Given the description of an element on the screen output the (x, y) to click on. 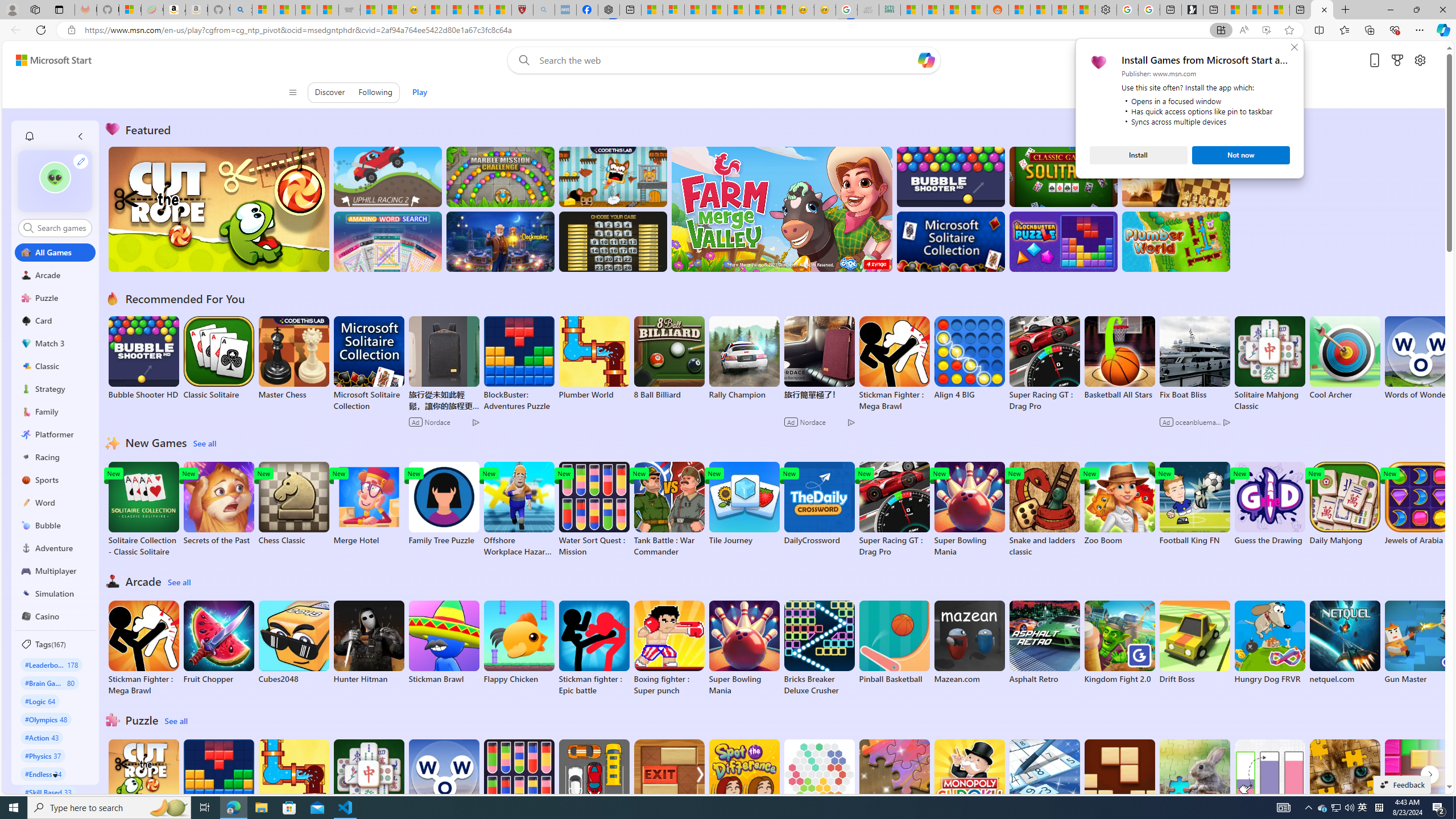
Tank Battle : War Commander (668, 509)
Super Racing GT : Drag Pro (894, 509)
R******* | Trusted Community Engagement and Contributions (1019, 9)
8 Ball Billiard (668, 358)
Merge Hotel (368, 503)
Fruit Chopper (218, 642)
DailyCrossword (818, 503)
